Given the description of an element on the screen output the (x, y) to click on. 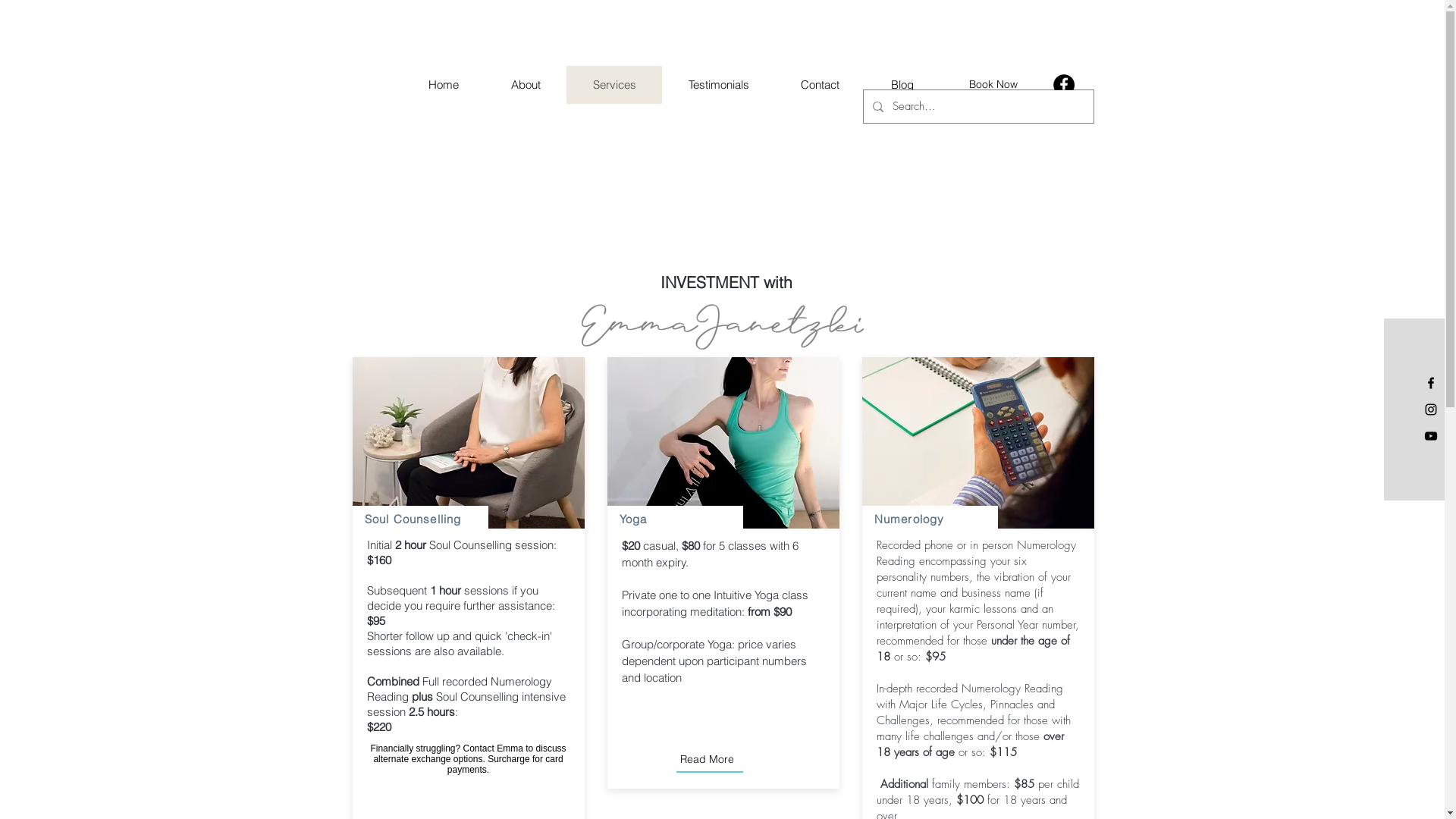
About Element type: text (524, 84)
Home Element type: text (442, 84)
Blog Element type: text (901, 84)
Testimonials Element type: text (717, 84)
Book Now Element type: text (992, 84)
Read More Element type: text (706, 758)
Services Element type: text (613, 84)
Contact Element type: text (820, 84)
